Given the description of an element on the screen output the (x, y) to click on. 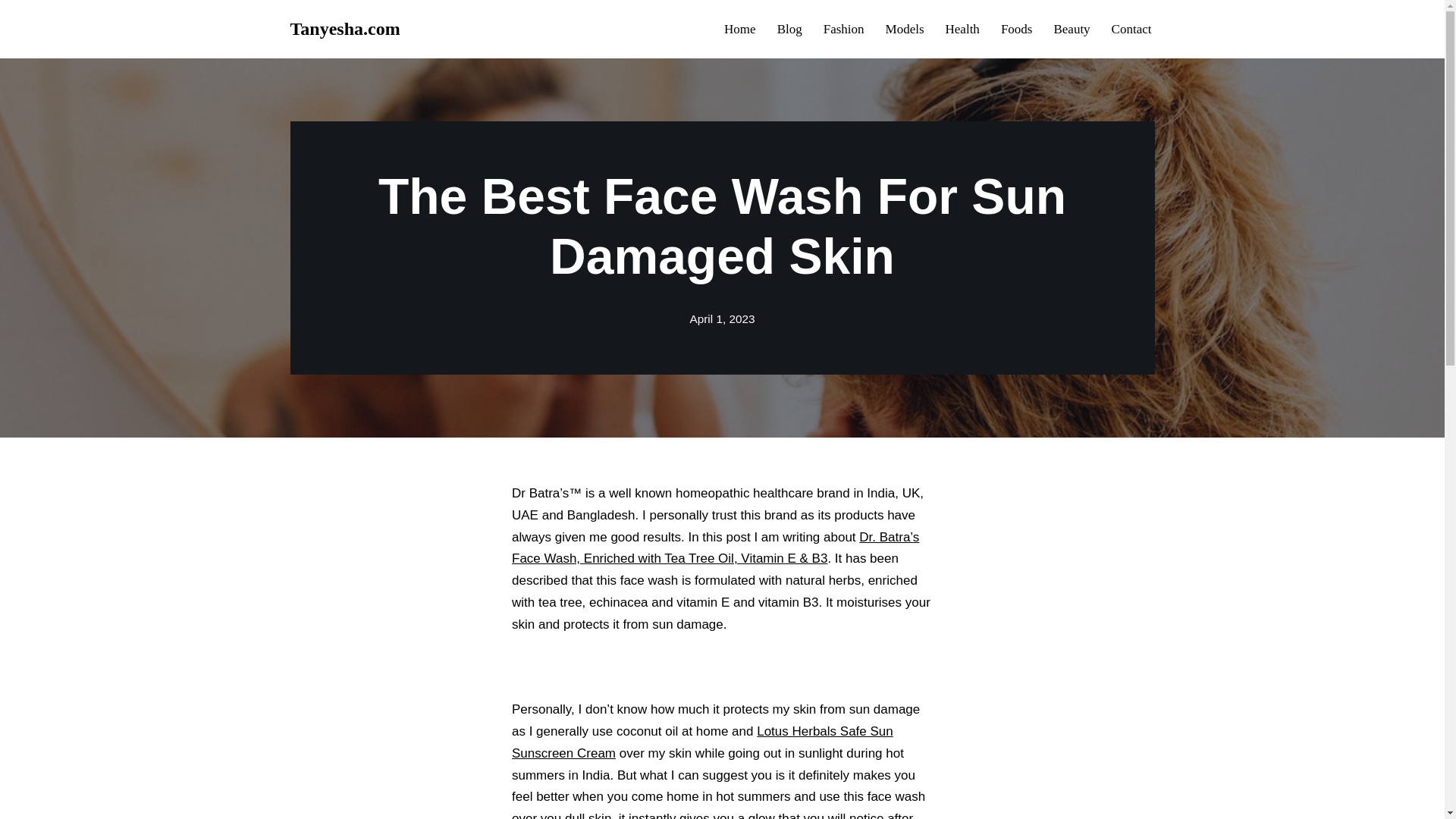
Home (739, 28)
Models (904, 28)
Fashion (844, 28)
Foods (1016, 28)
Contact (1131, 28)
Skip to content (11, 31)
Tanyesha.com (343, 29)
Blog (789, 28)
Lotus Herbals Safe Sun Sunscreen Cream (702, 741)
Health (961, 28)
